Given the description of an element on the screen output the (x, y) to click on. 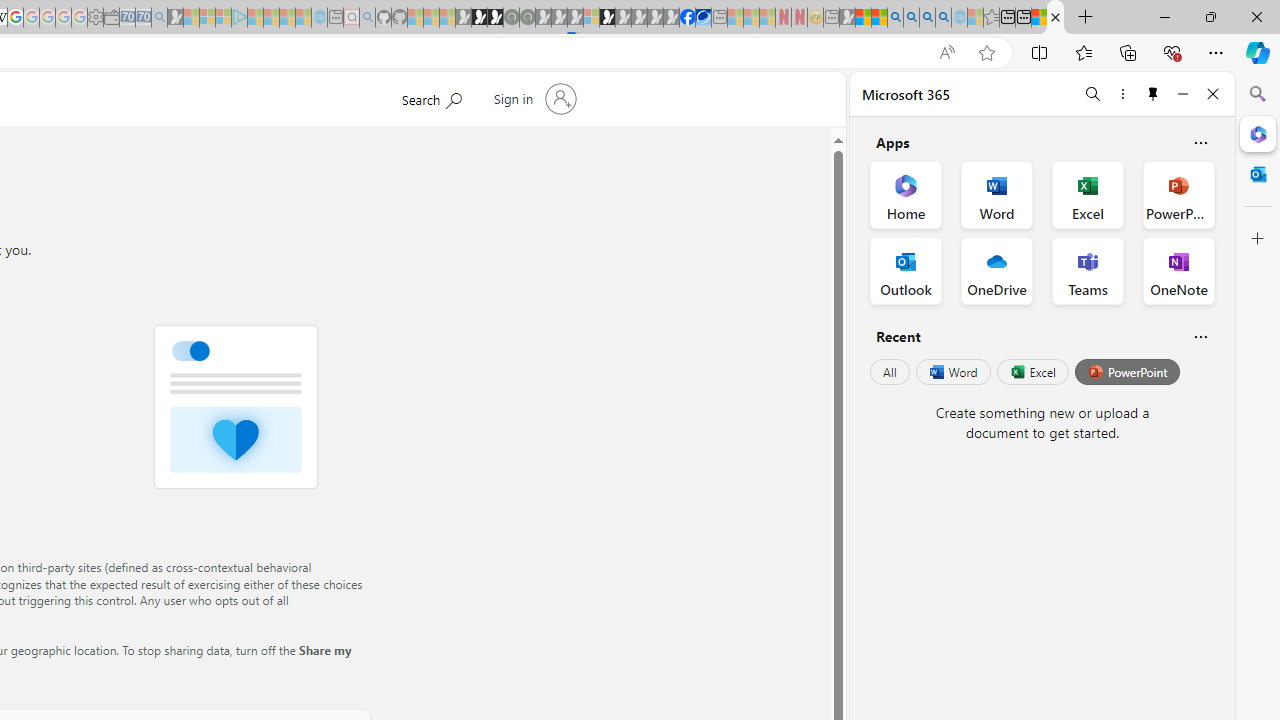
Teams Office App (1087, 270)
Word Office App (996, 194)
Future Focus Report 2024 - Sleeping (527, 17)
Favorites - Sleeping (991, 17)
